Given the description of an element on the screen output the (x, y) to click on. 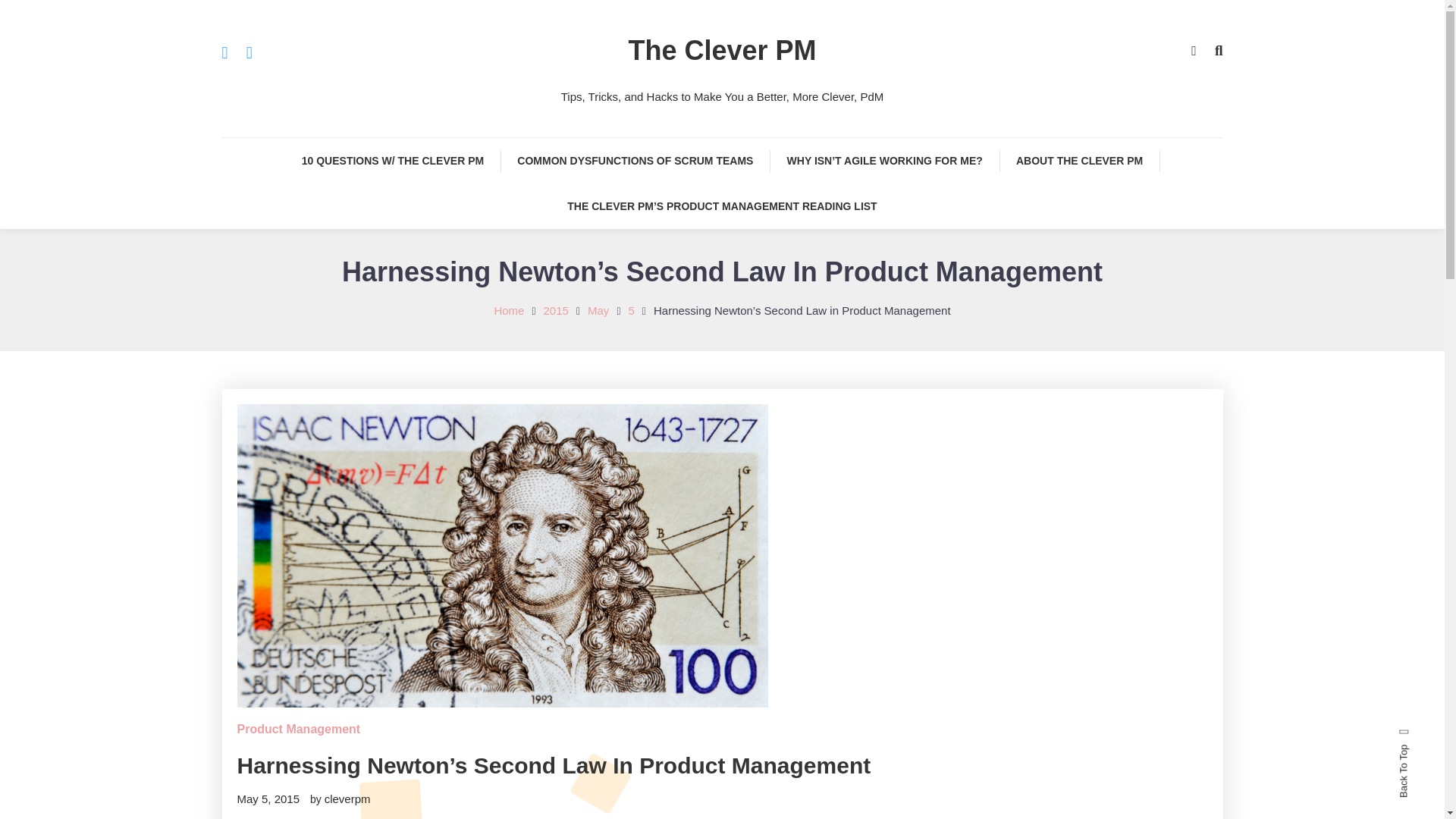
cleverpm (347, 798)
COMMON DYSFUNCTIONS OF SCRUM TEAMS (635, 160)
May 5, 2015 (267, 798)
May (598, 309)
Product Management (297, 730)
ABOUT THE CLEVER PM (1079, 160)
Search (768, 432)
The Clever PM (721, 50)
Home (508, 309)
2015 (556, 309)
